Given the description of an element on the screen output the (x, y) to click on. 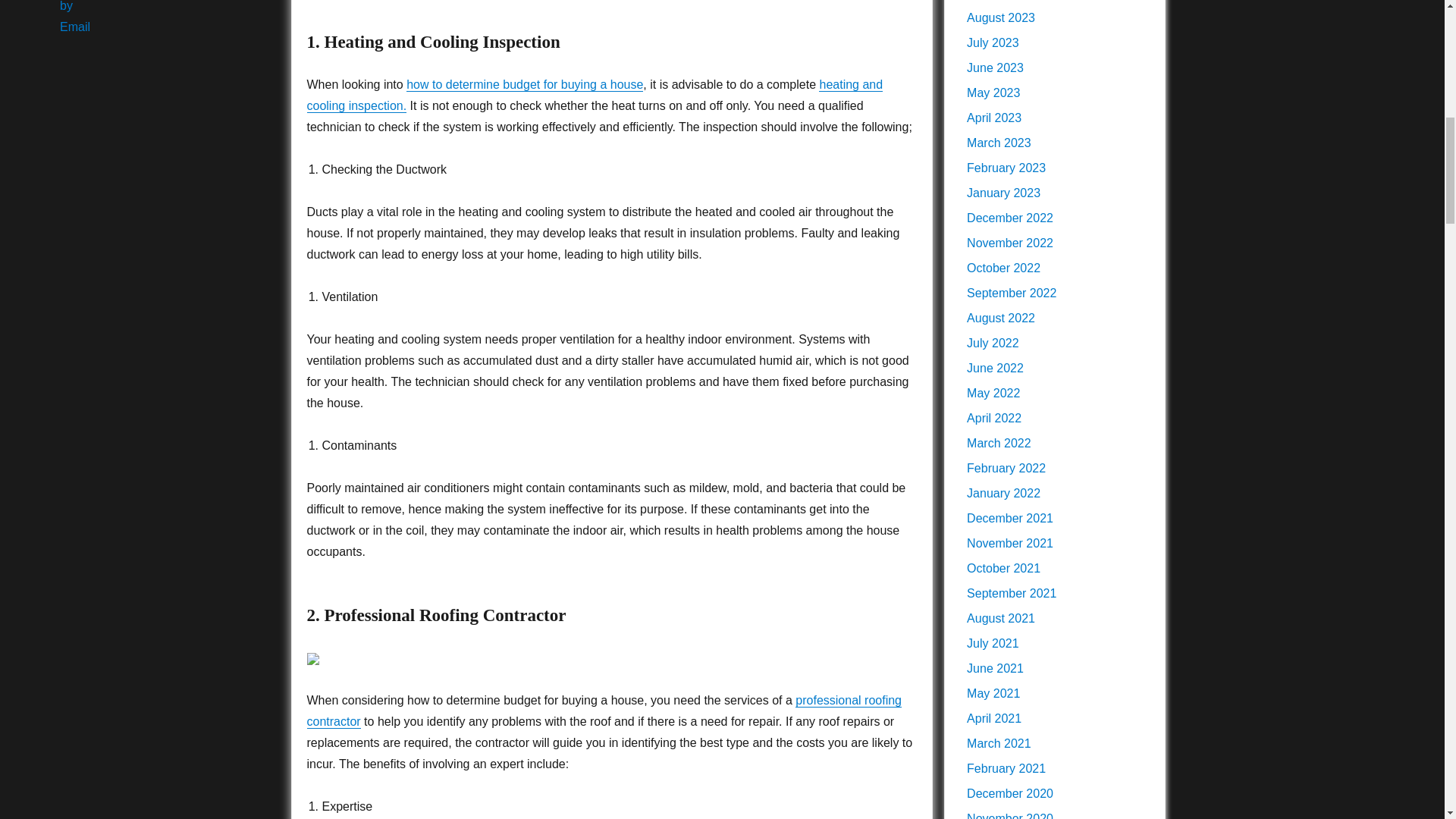
August 2023 (1000, 17)
July 2023 (992, 42)
how to determine budget for buying a house (524, 83)
professional roofing contractor (603, 710)
June 2023 (994, 67)
heating and cooling inspection. (593, 94)
